Given the description of an element on the screen output the (x, y) to click on. 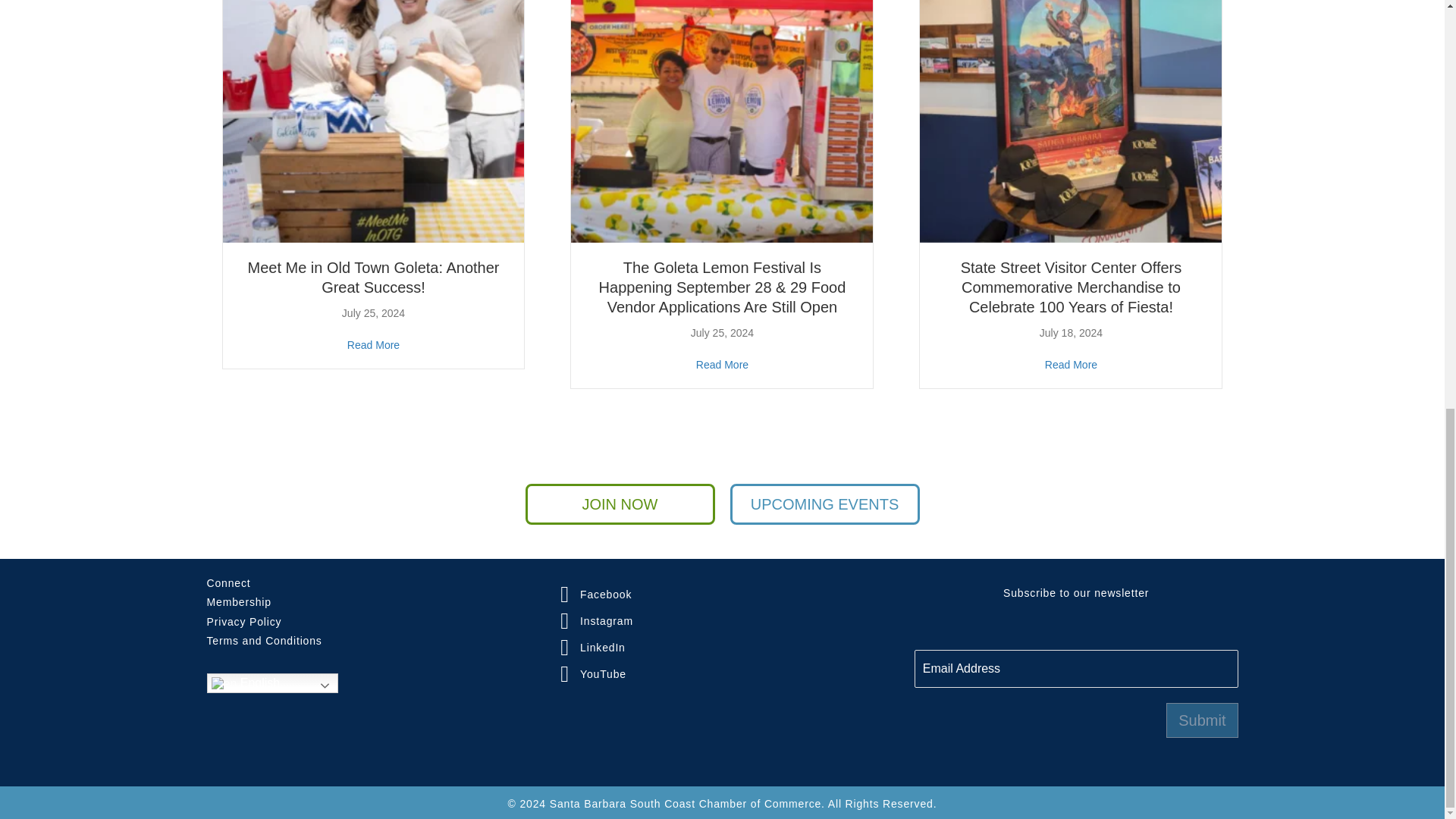
Meet Me in Old Town Goleta: Another Great Success! (373, 277)
Meet Me in Old Town Goleta: Another Great Success! (373, 91)
Meet Me in Old Town Goleta: Another Great Success! (372, 344)
